Given the description of an element on the screen output the (x, y) to click on. 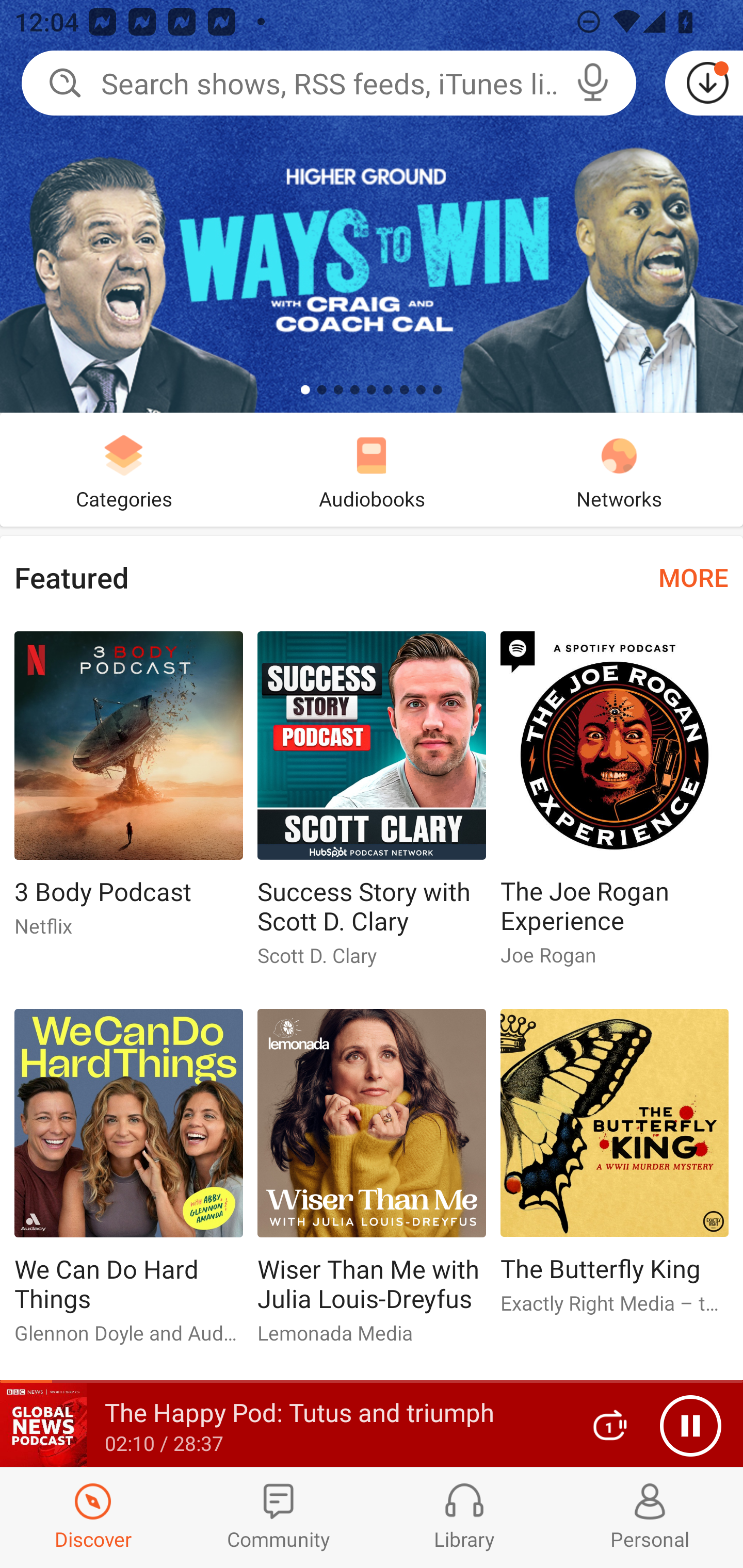
Ways To Win (371, 206)
Categories (123, 469)
Audiobooks (371, 469)
Networks (619, 469)
MORE (693, 576)
3 Body Podcast 3 Body Podcast Netflix (128, 792)
The Happy Pod: Tutus and triumph 02:10 / 28:37 (283, 1424)
Pause (690, 1425)
Discover (92, 1517)
Community (278, 1517)
Library (464, 1517)
Profiles and Settings Personal (650, 1517)
